Given the description of an element on the screen output the (x, y) to click on. 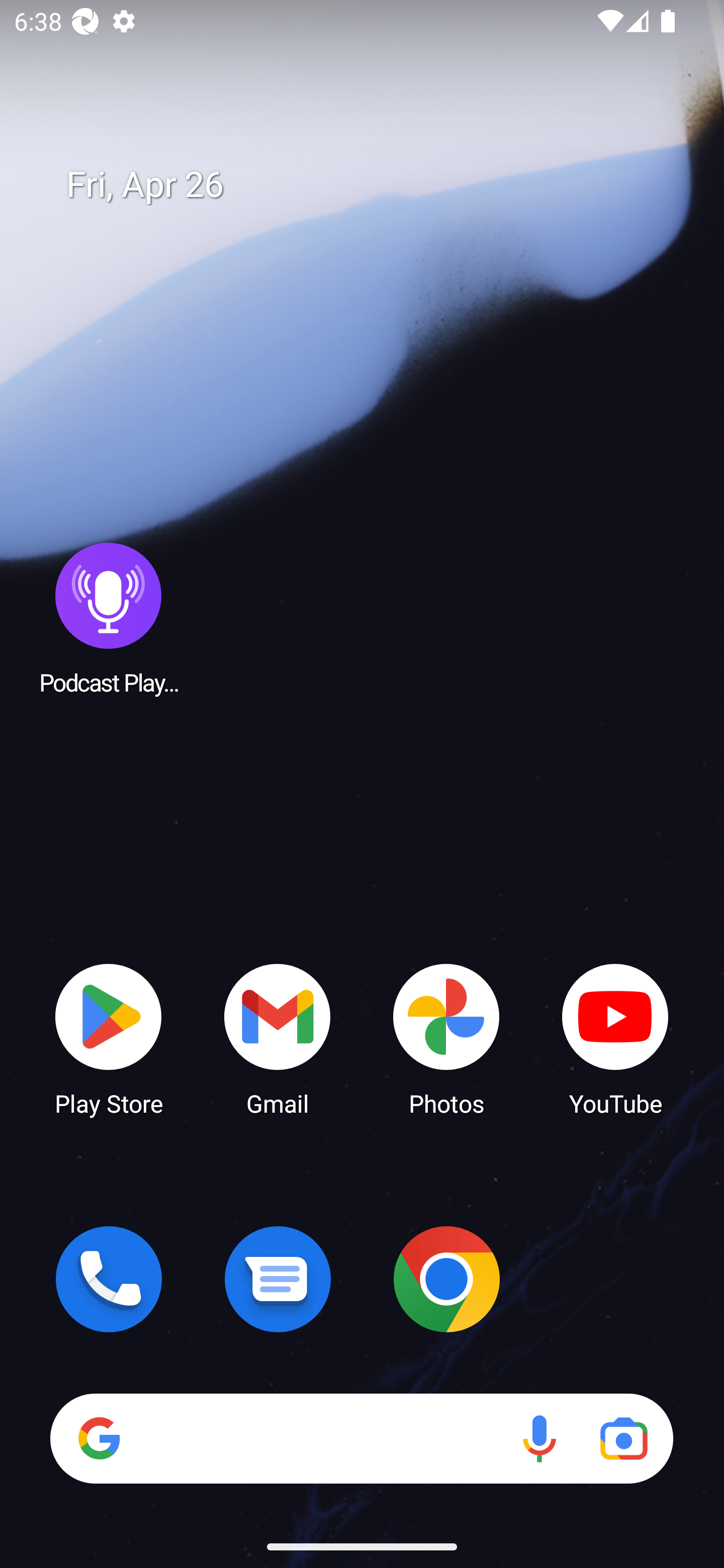
Fri, Apr 26 (375, 184)
Podcast Player (108, 617)
Play Store (108, 1038)
Gmail (277, 1038)
Photos (445, 1038)
YouTube (615, 1038)
Phone (108, 1279)
Messages (277, 1279)
Chrome (446, 1279)
Search Voice search Google Lens (361, 1438)
Voice search (539, 1438)
Google Lens (623, 1438)
